Given the description of an element on the screen output the (x, y) to click on. 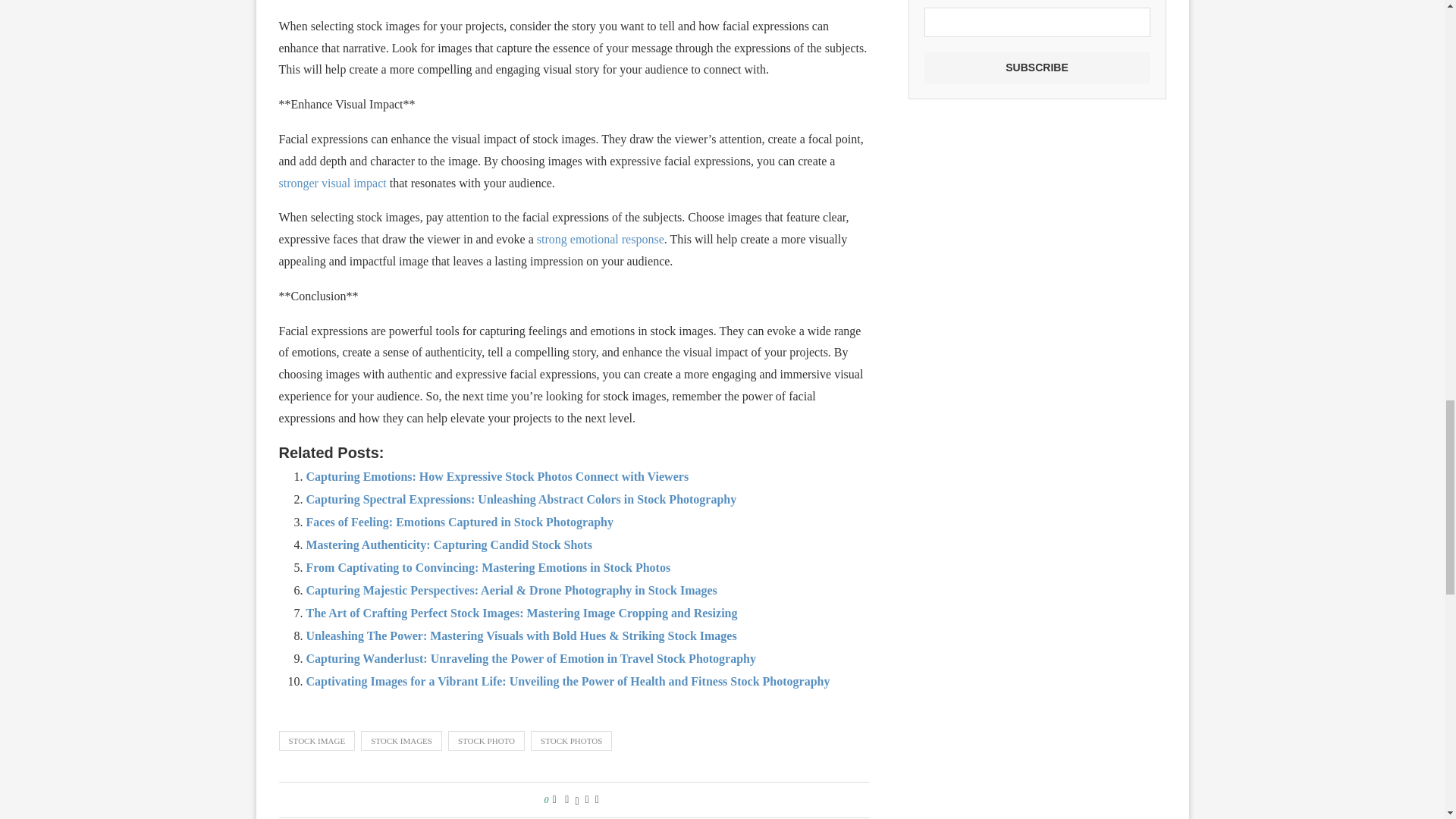
STOCK IMAGE (317, 741)
Mastering Authenticity: Capturing Candid Stock Shots (448, 544)
Mastering Authenticity: Capturing Candid Stock Shots (448, 544)
Subscribe (1036, 67)
Faces of Feeling: Emotions Captured in Stock Photography (458, 521)
